Given the description of an element on the screen output the (x, y) to click on. 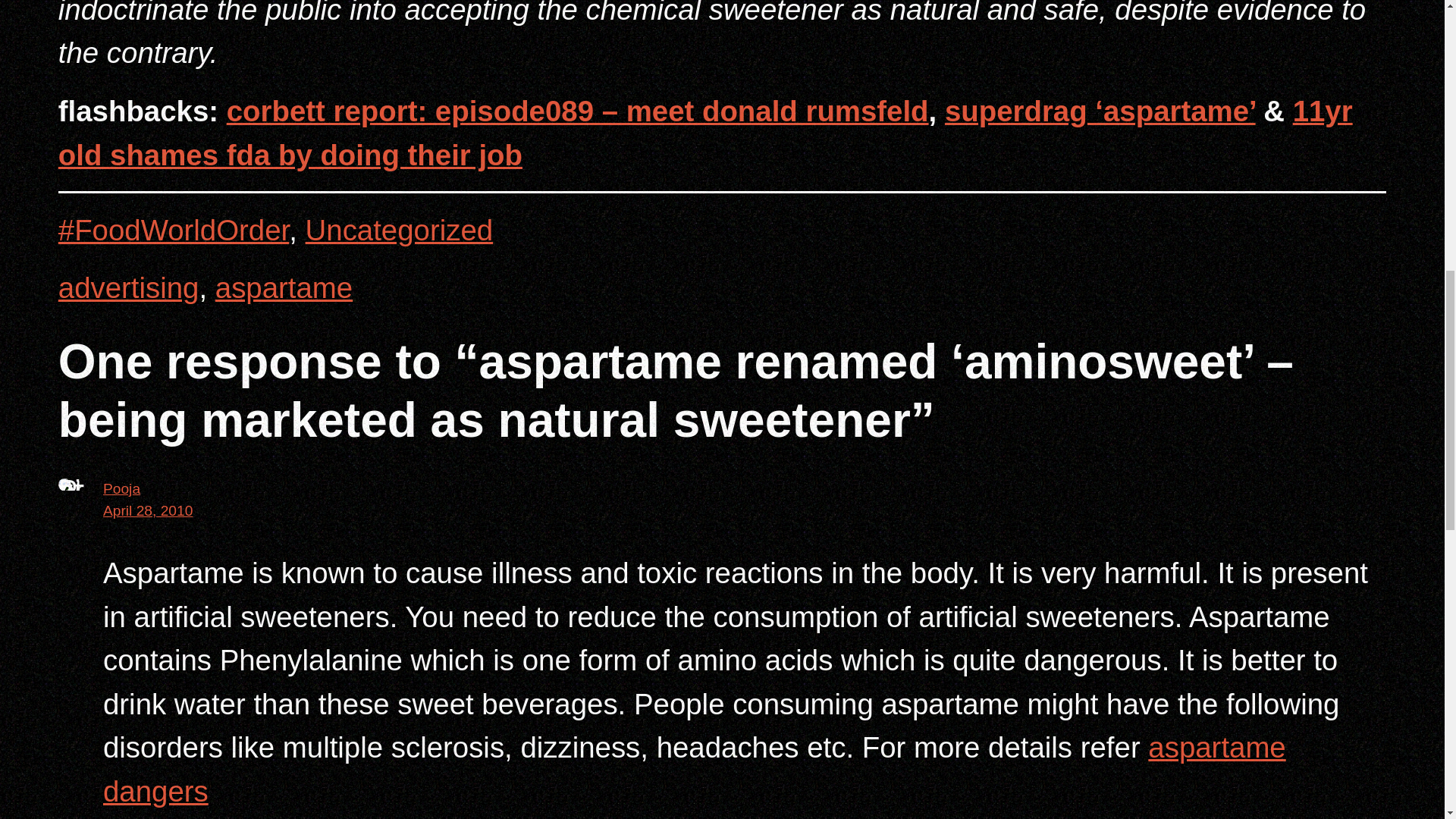
April 28, 2010 (147, 510)
11yr old shames fda by doing their job (705, 133)
aspartame dangers (694, 769)
Uncategorized (399, 229)
aspartame (283, 287)
Pooja (121, 488)
advertising (128, 287)
